Given the description of an element on the screen output the (x, y) to click on. 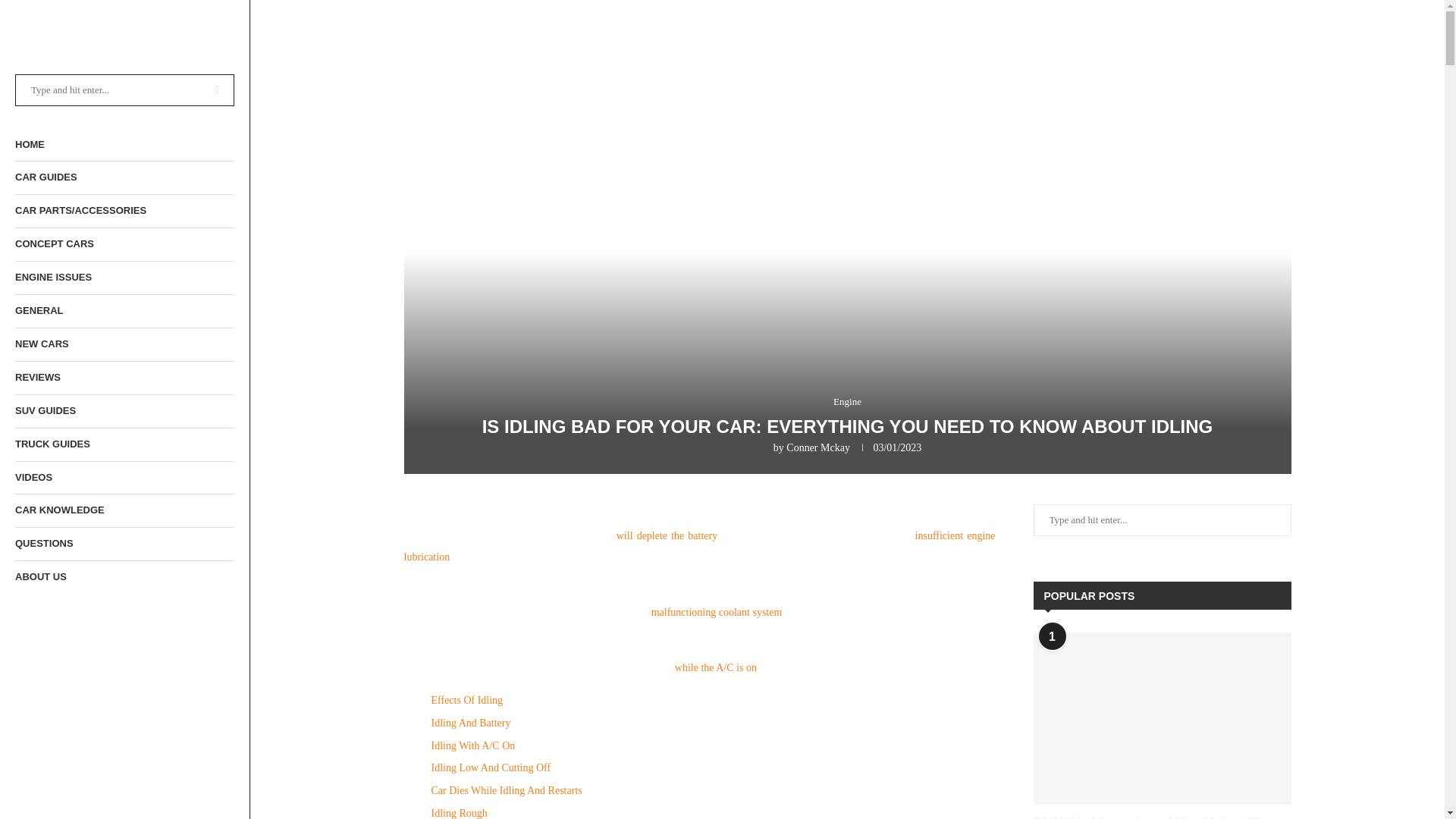
QUESTIONS (124, 543)
CAR GUIDES (124, 177)
Car Dies While Idling And Restarts (505, 790)
TRUCK GUIDES (124, 444)
malfunctioning coolant system (716, 612)
Effects Of Idling (466, 699)
Conner Mckay (818, 447)
Idling Rough (458, 813)
NEW CARS (124, 344)
ENGINE ISSUES (124, 277)
